Given the description of an element on the screen output the (x, y) to click on. 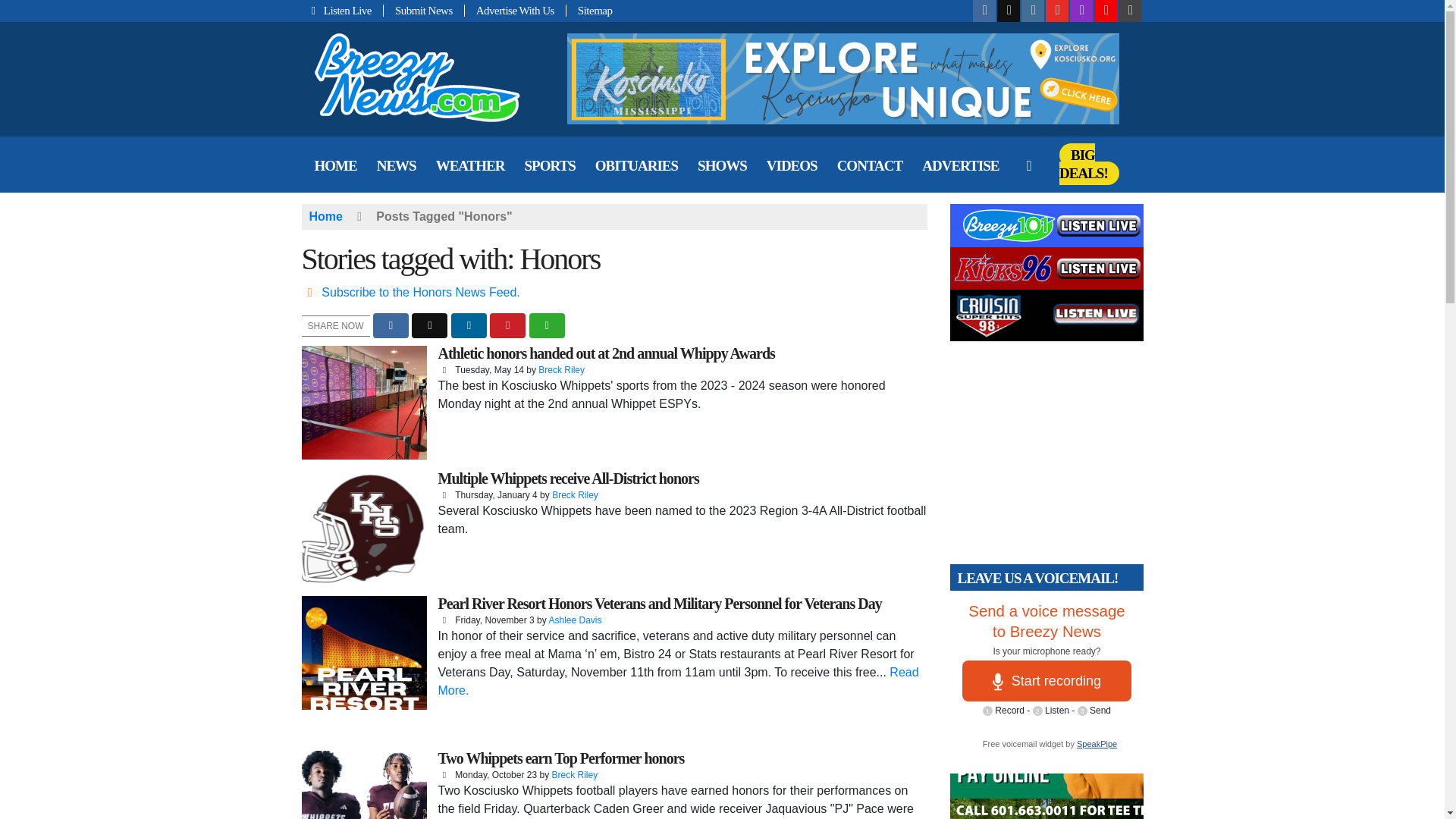
Get our iOS App (1129, 11)
Follow us on Instagram (1032, 11)
Sitemap (589, 10)
Listen Live (342, 10)
Advertise With Us (515, 10)
Follow us on Soundcloud (1105, 11)
Submit News (424, 10)
Follow us on Youtube (1056, 11)
Follow us on X (1008, 11)
Follow our Podcast (1081, 11)
Follow us on Facebook (983, 11)
